Given the description of an element on the screen output the (x, y) to click on. 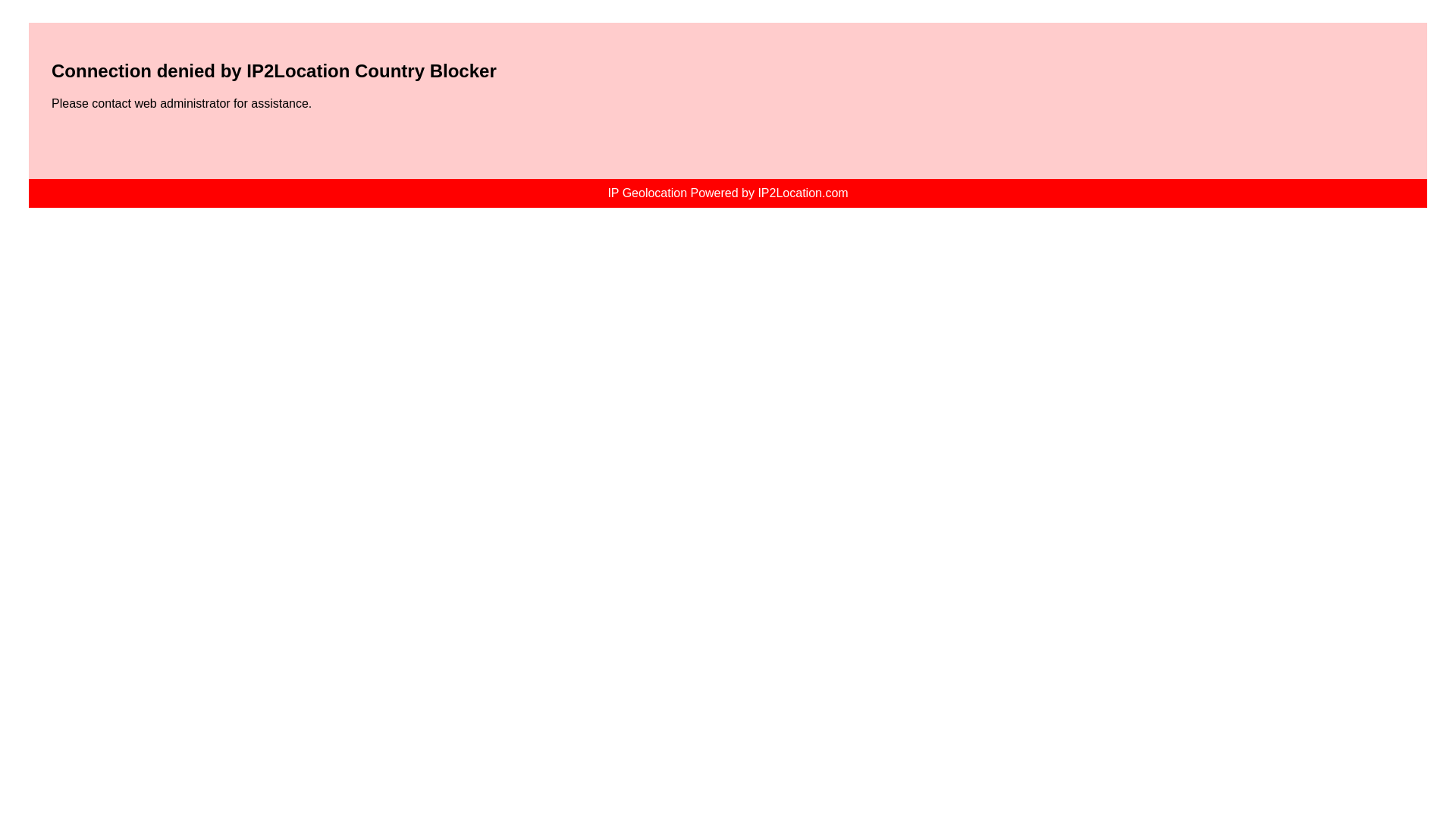
IP Geolocation Powered by IP2Location.com Element type: text (727, 192)
